Given the description of an element on the screen output the (x, y) to click on. 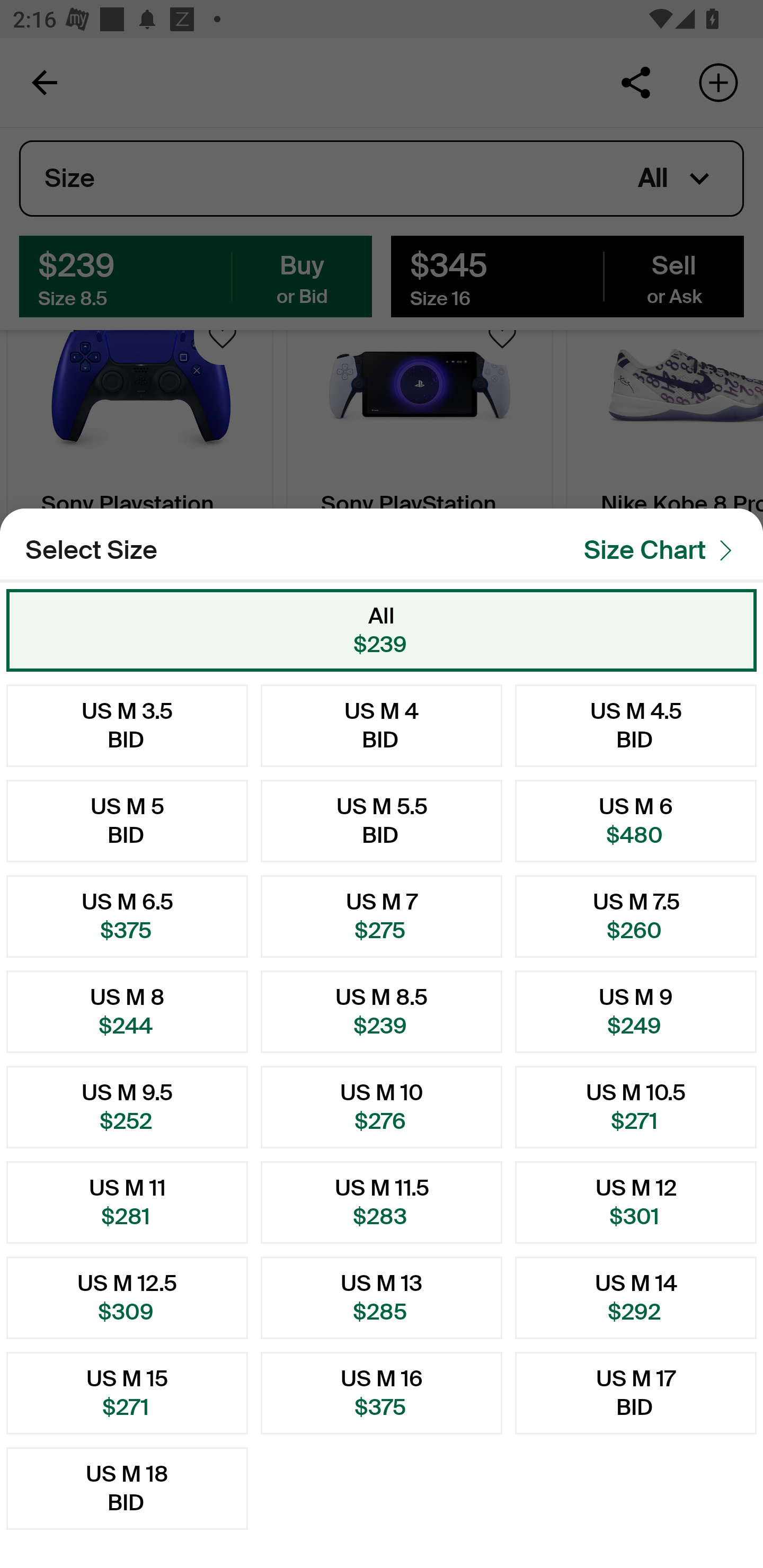
Size Chart (663, 550)
All $239 (381, 630)
US M 3.5 BID (126, 724)
US M 4 BID (381, 724)
US M 4.5 BID (635, 724)
US M 5 BID (126, 820)
US M 5.5 BID (381, 820)
US M 6 $480 (635, 820)
US M 6.5 $375 (126, 916)
US M 7 $275 (381, 916)
US M 7.5 $260 (635, 916)
US M 8 $244 (126, 1011)
US M 8.5 $239 (381, 1011)
US M 9 $249 (635, 1011)
US M 9.5 $252 (126, 1106)
US M 10 $276 (381, 1106)
US M 10.5 $271 (635, 1106)
US M 11 $281 (126, 1202)
US M 11.5 $283 (381, 1202)
US M 12 $301 (635, 1202)
US M 12.5 $309 (126, 1297)
US M 13 $285 (381, 1297)
US M 14 $292 (635, 1297)
US M 15 $271 (126, 1392)
US M 16 $375 (381, 1392)
US M 17 BID (635, 1392)
US M 18 BID (126, 1488)
